Given the description of an element on the screen output the (x, y) to click on. 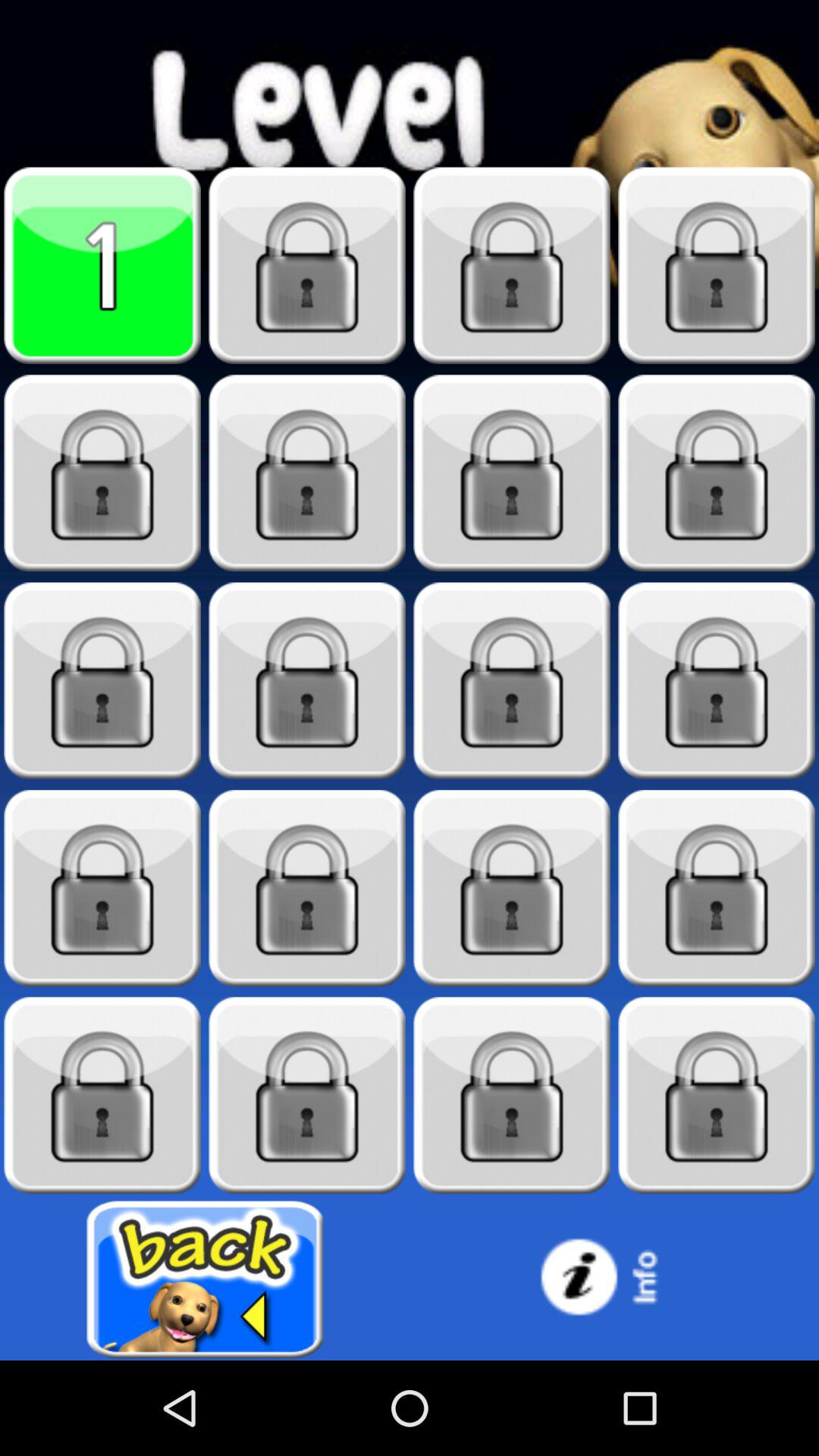
select level (102, 1094)
